Given the description of an element on the screen output the (x, y) to click on. 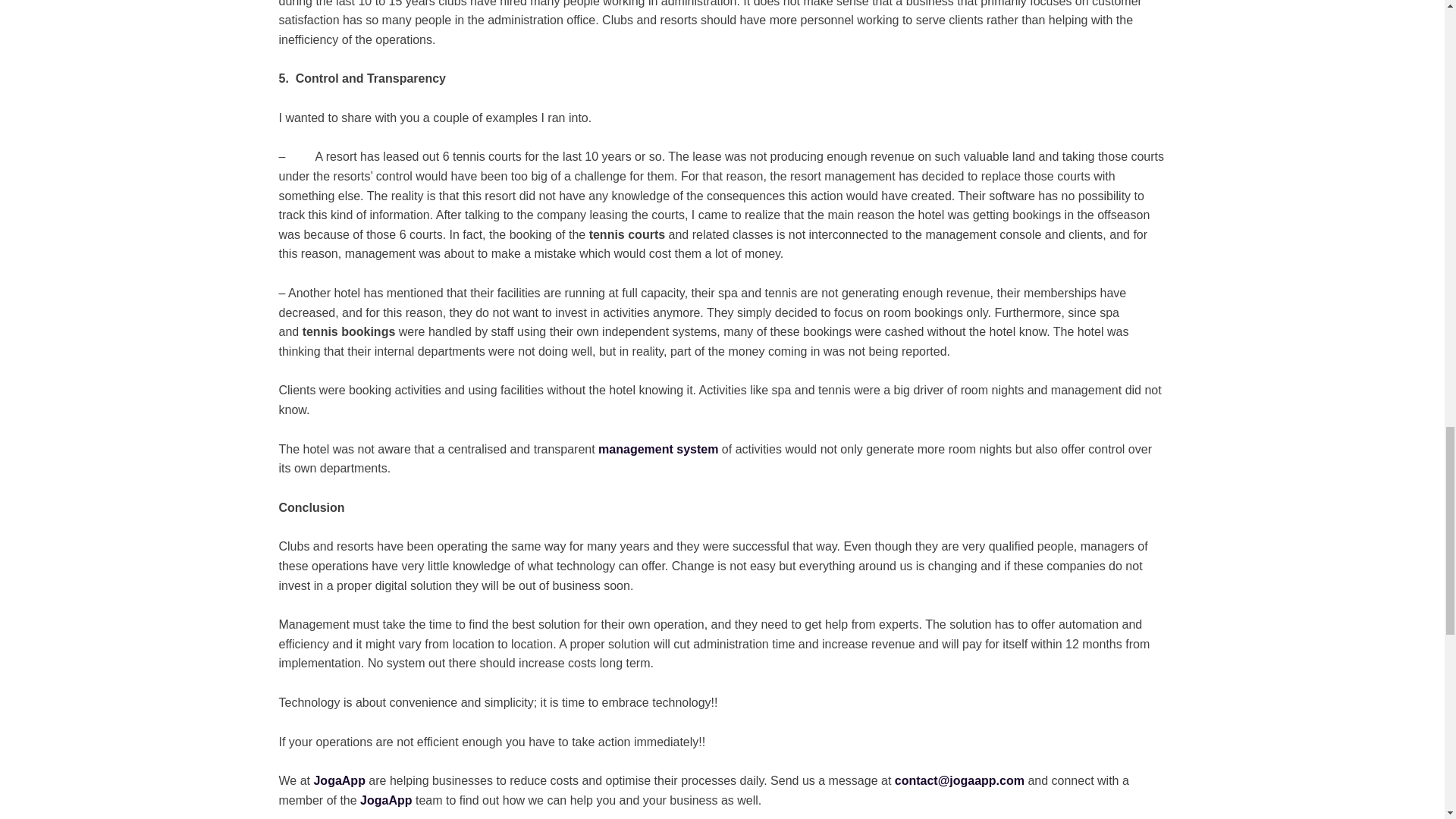
JogaApp (385, 799)
JogaApp (339, 780)
management system (657, 449)
